Given the description of an element on the screen output the (x, y) to click on. 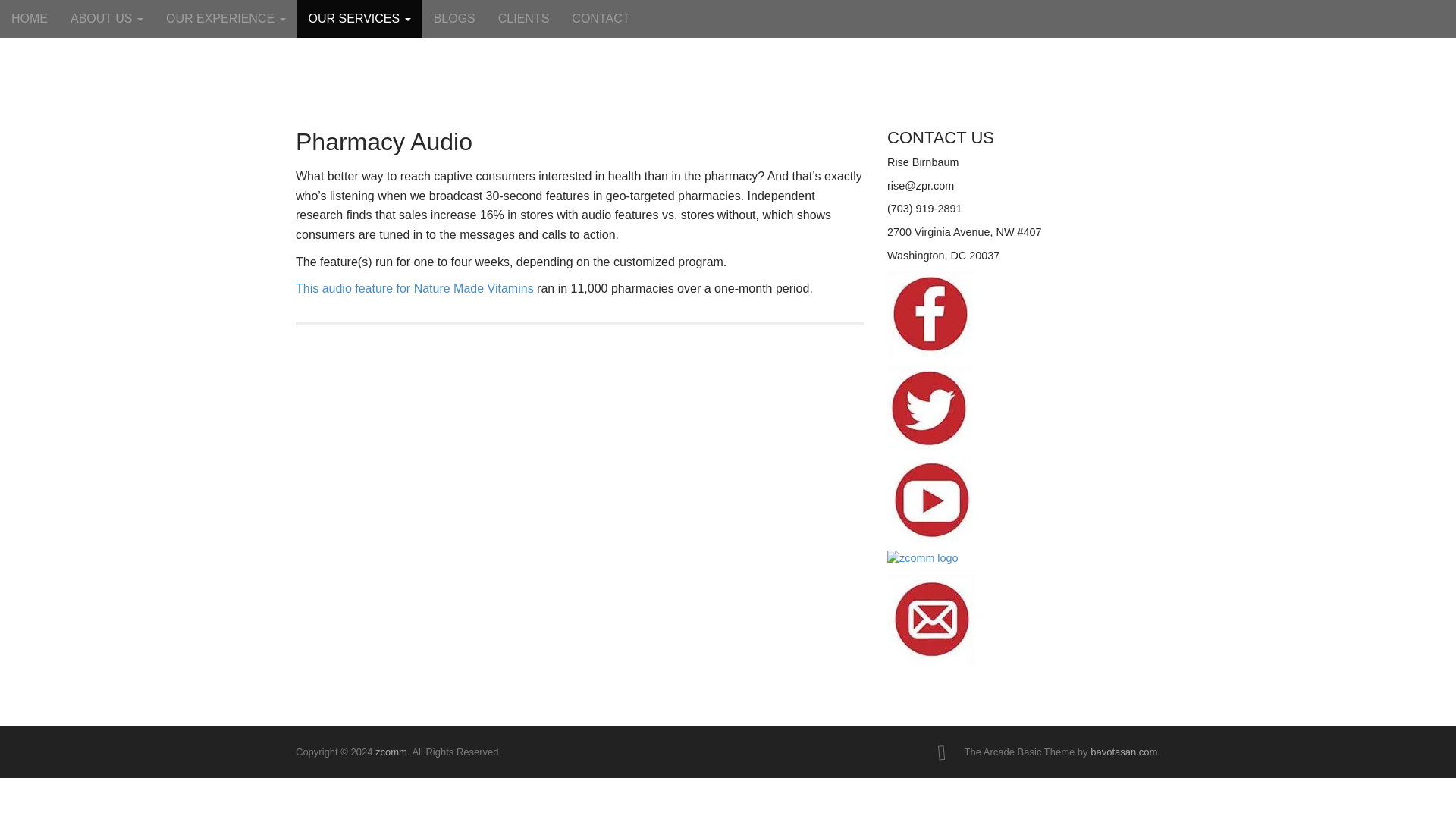
This audio feature for Nature Made Vitamins (414, 287)
OUR SERVICES (359, 18)
BLOGS (454, 18)
CLIENTS (523, 18)
HOME (29, 18)
OUR EXPERIENCE (225, 18)
ABOUT US (106, 18)
CONTACT (600, 18)
